Given the description of an element on the screen output the (x, y) to click on. 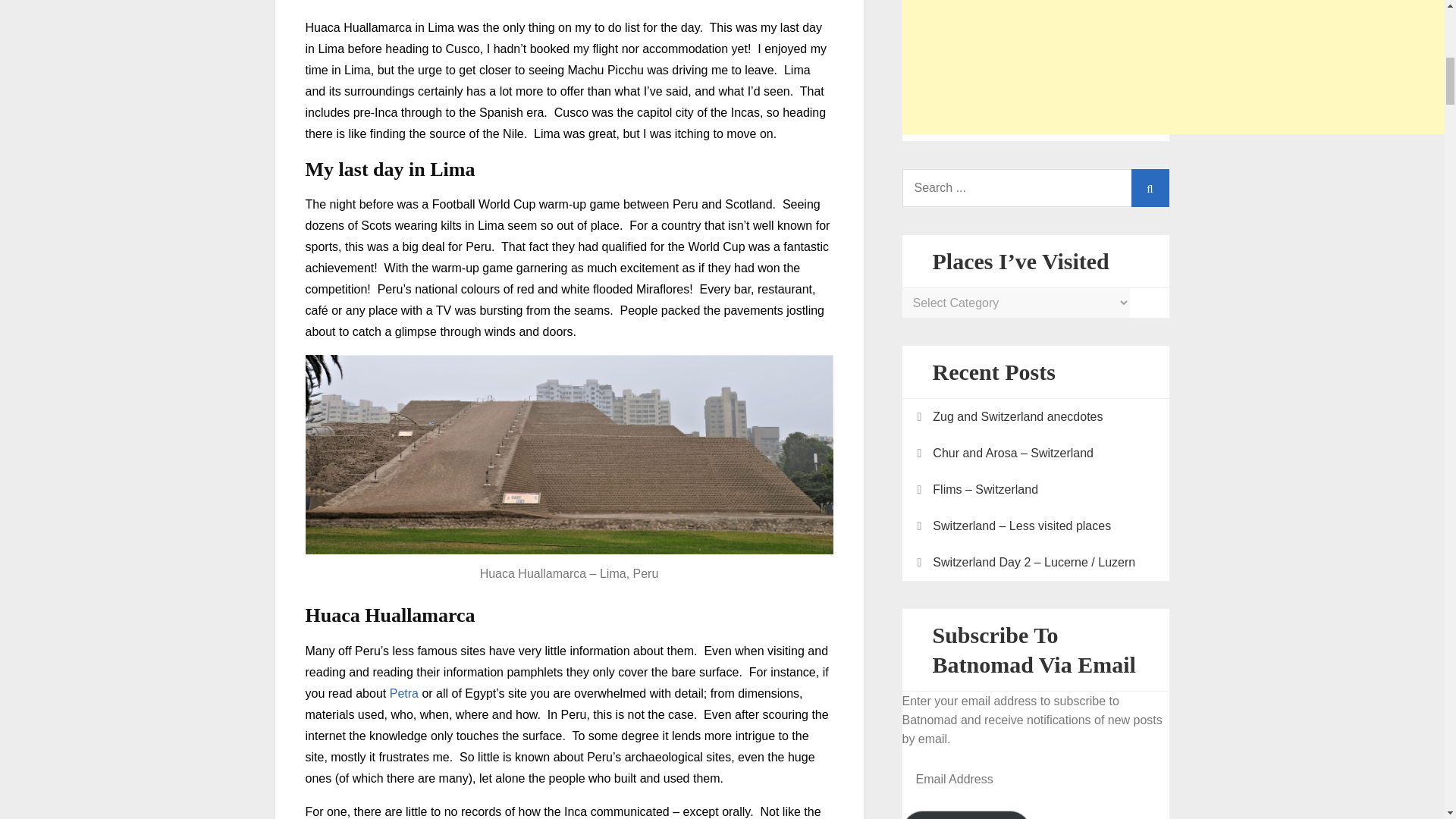
Search for: (1035, 187)
Petra (404, 693)
